Given the description of an element on the screen output the (x, y) to click on. 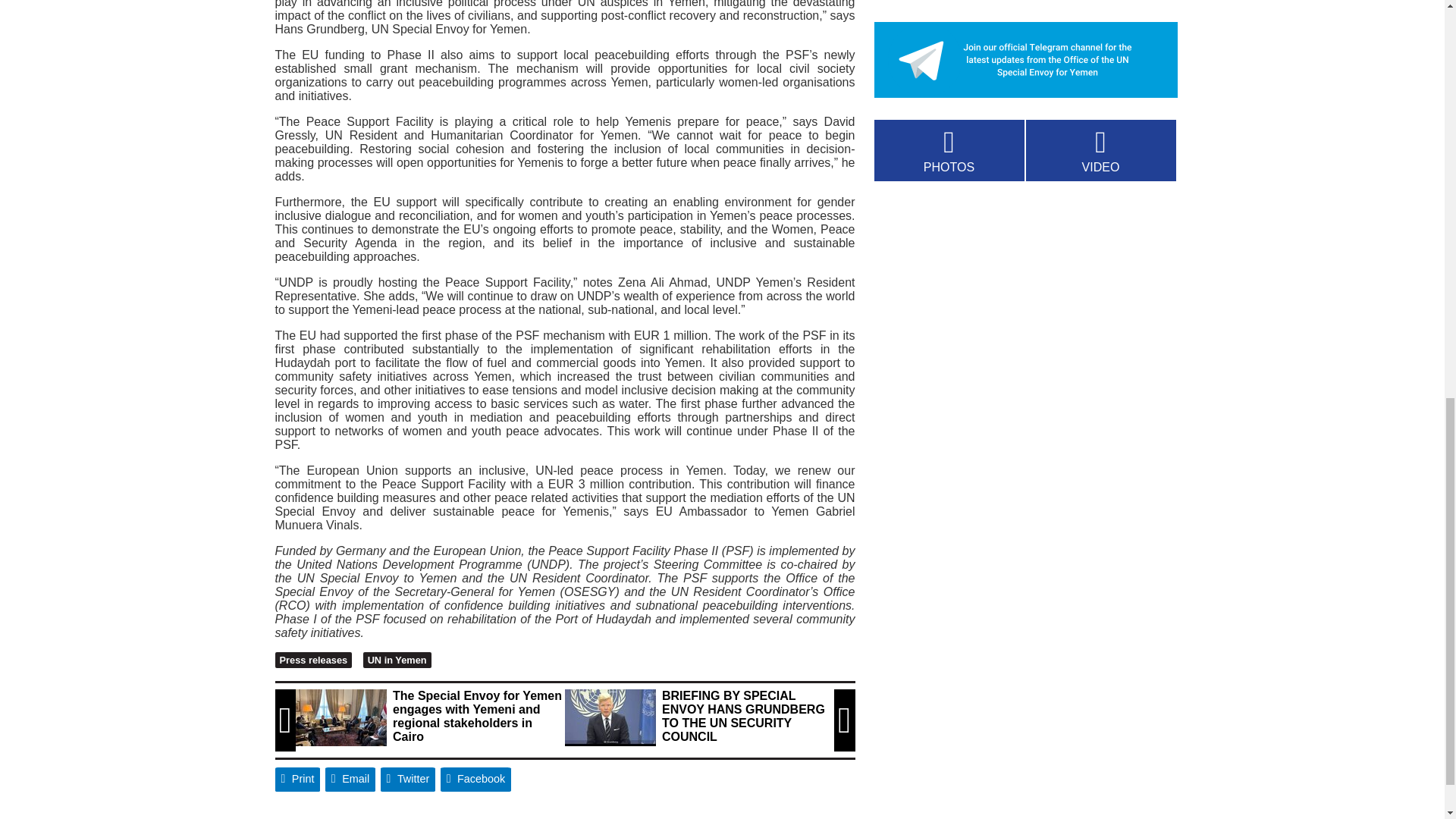
Twitter (407, 779)
Facebook (476, 779)
Email (349, 779)
Print (297, 779)
